Given the description of an element on the screen output the (x, y) to click on. 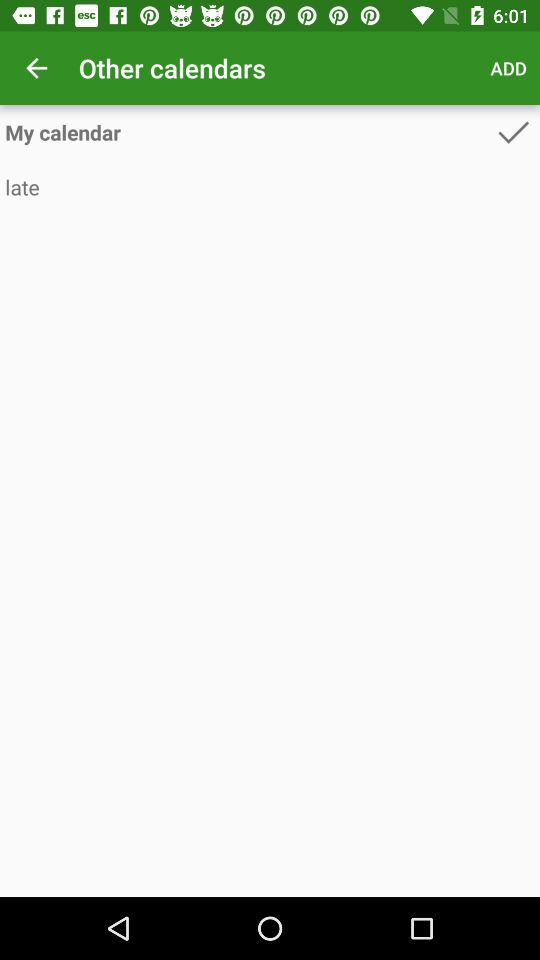
scroll until the my calendar (248, 132)
